Given the description of an element on the screen output the (x, y) to click on. 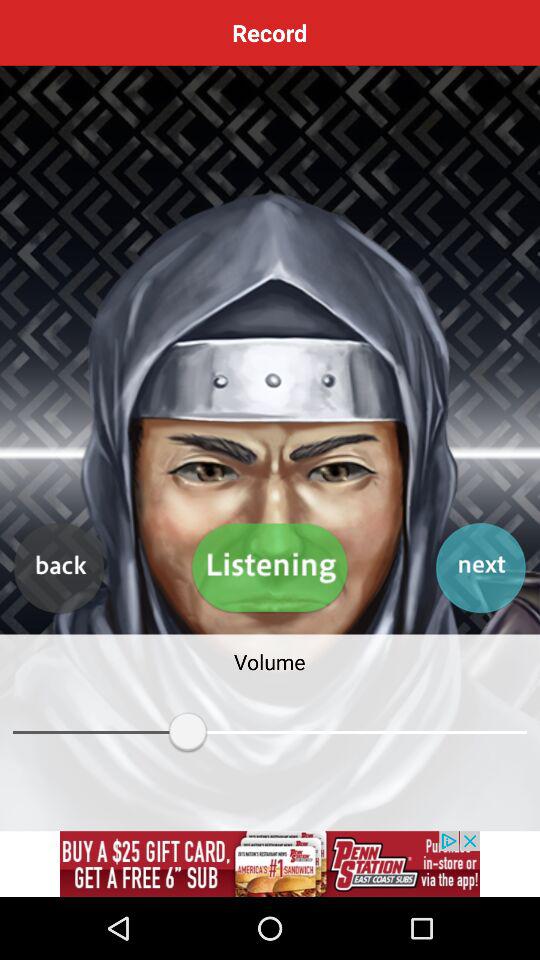
next screen (480, 568)
